Given the description of an element on the screen output the (x, y) to click on. 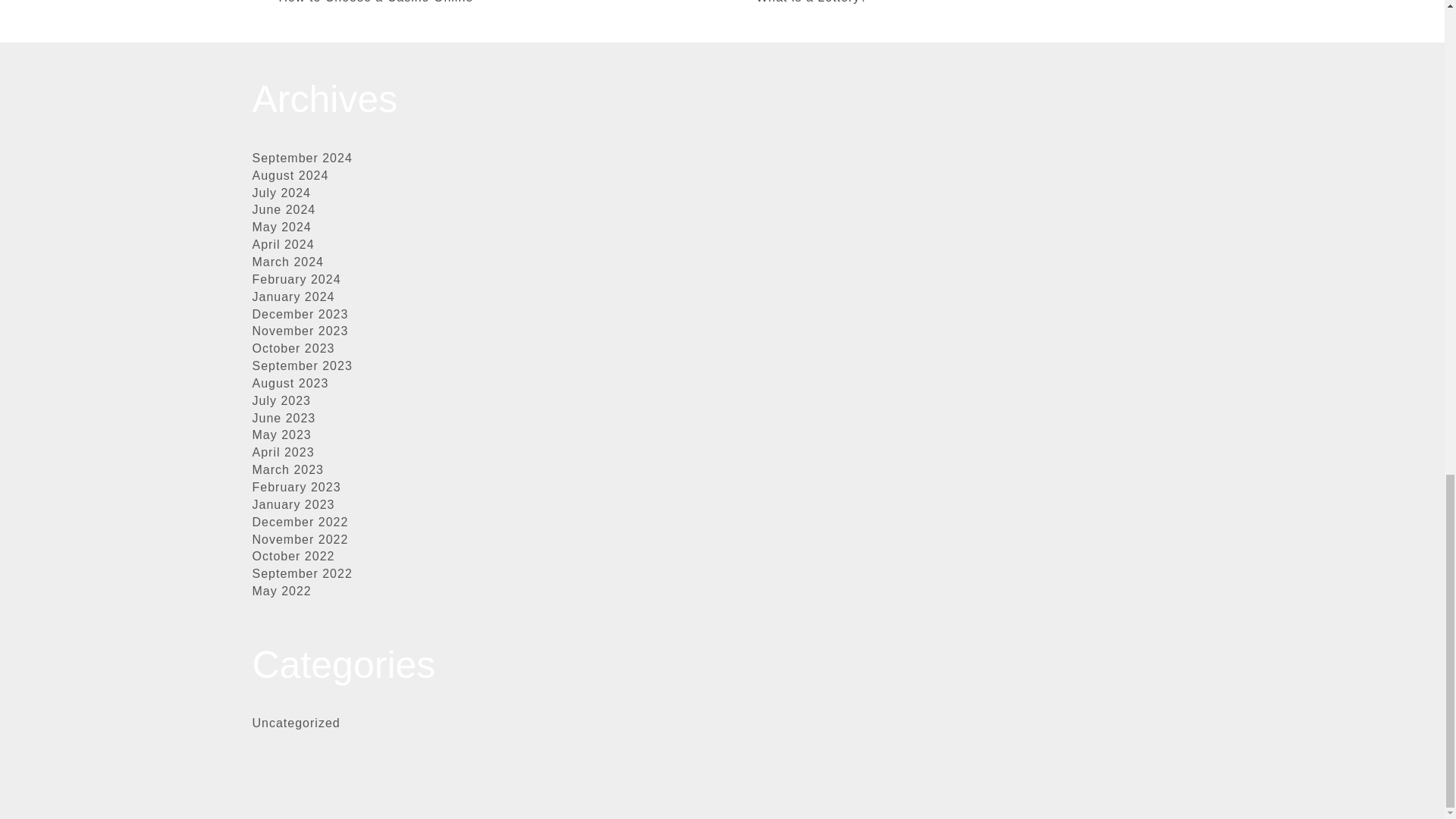
April 2024 (282, 244)
How to Choose a Casino Online (376, 3)
July 2023 (281, 400)
June 2024 (283, 209)
September 2023 (301, 365)
June 2023 (283, 418)
May 2023 (281, 434)
October 2023 (292, 348)
July 2024 (281, 192)
September 2024 (301, 157)
